Given the description of an element on the screen output the (x, y) to click on. 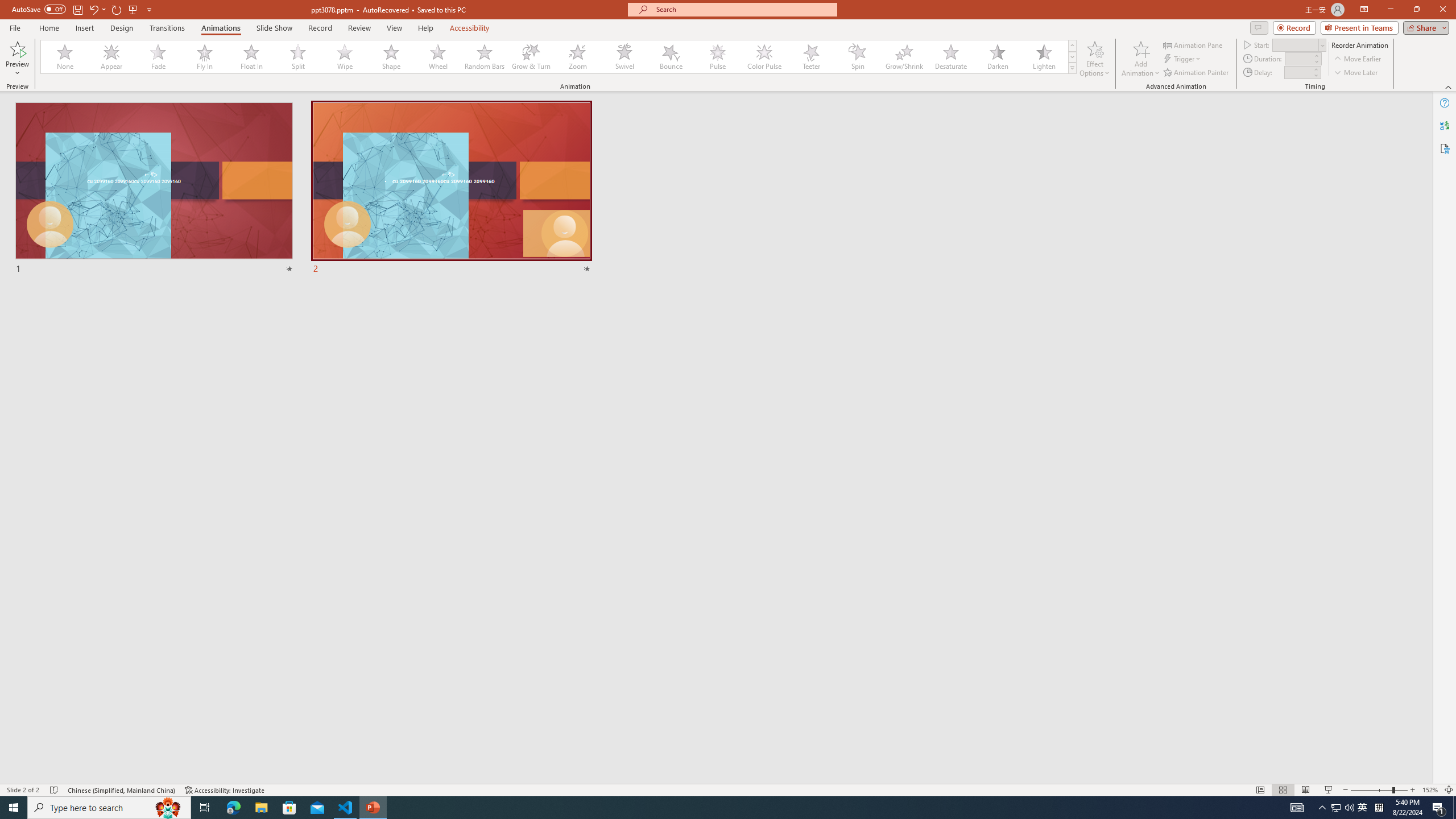
Animation Styles (1071, 67)
None (65, 56)
AutomationID: AnimationGallery (558, 56)
Zoom 152% (1430, 790)
Grow & Turn (531, 56)
Split (298, 56)
